Given the description of an element on the screen output the (x, y) to click on. 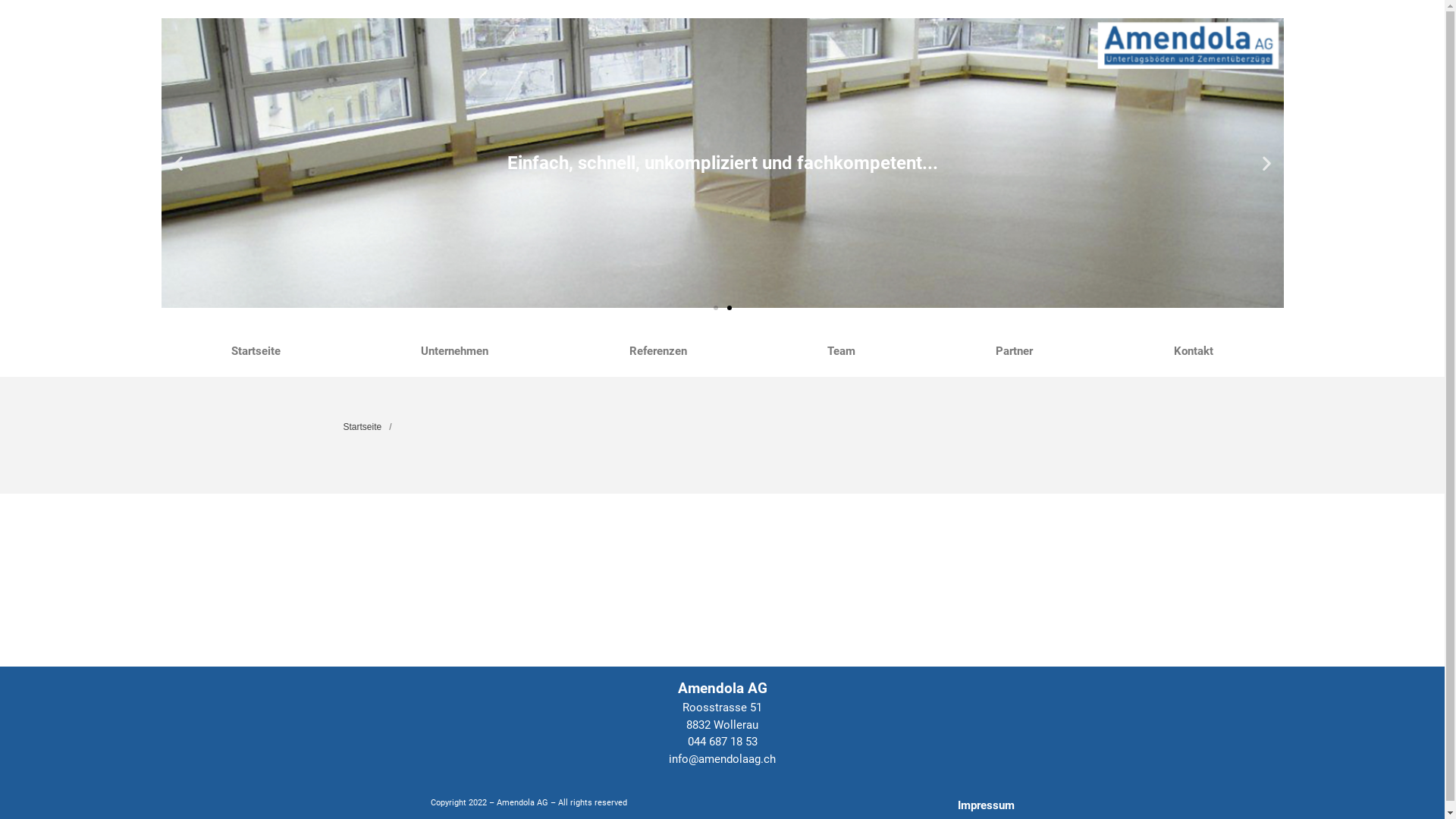
Partner Element type: text (1014, 350)
Referenzen Element type: text (657, 350)
Startseite Element type: text (361, 426)
Kontakt Element type: text (1193, 350)
Suche Element type: text (1357, 244)
Team Element type: text (840, 350)
Unternehmen Element type: text (454, 350)
Impressum Element type: text (985, 805)
Startseite Element type: text (255, 350)
